Given the description of an element on the screen output the (x, y) to click on. 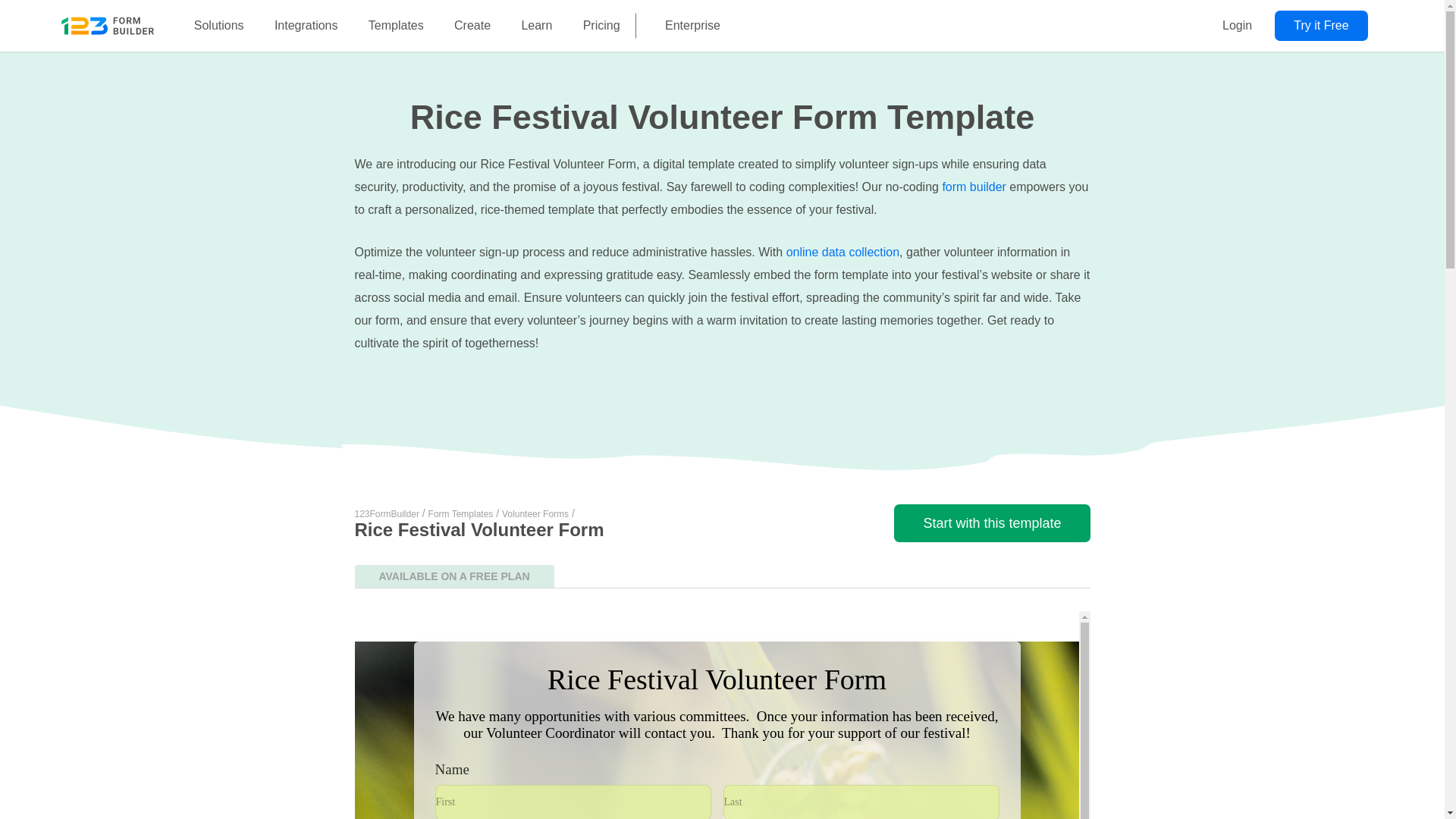
Live Chat Button (1414, 788)
Solutions (219, 25)
Integrations (306, 25)
Login to your account (1236, 25)
